Given the description of an element on the screen output the (x, y) to click on. 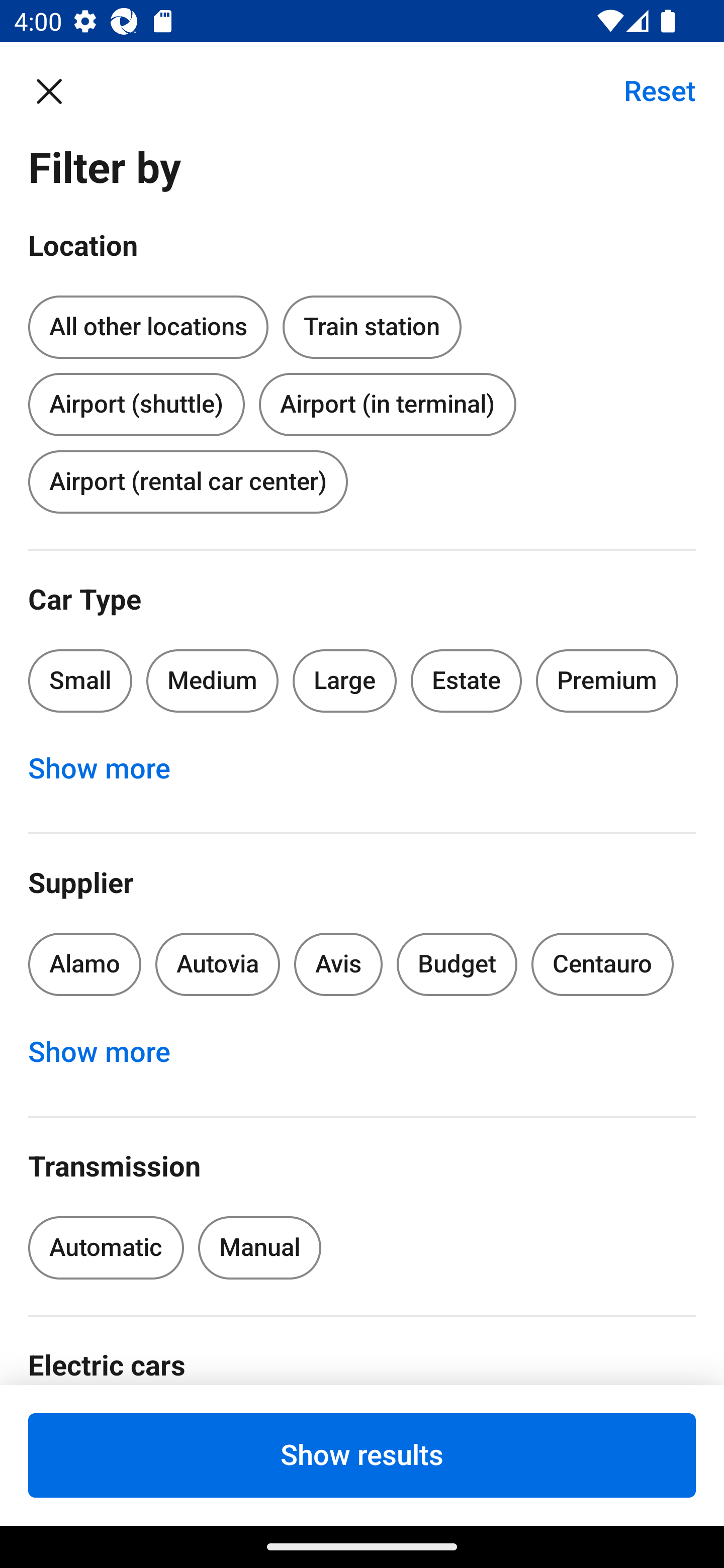
Close (59, 90)
Reset (649, 90)
All other locations (148, 327)
Train station (371, 323)
Airport (shuttle) (136, 400)
Airport (in terminal) (387, 404)
Airport (rental car center) (187, 481)
Small (80, 680)
Medium (212, 680)
Large (344, 680)
Estate (466, 680)
Premium (606, 680)
Show more (109, 767)
Alamo (84, 963)
Autovia (217, 963)
Avis (338, 963)
Budget (456, 963)
Centauro (602, 963)
Show more (109, 1051)
Automatic (105, 1247)
Manual (259, 1247)
Show results (361, 1454)
